Given the description of an element on the screen output the (x, y) to click on. 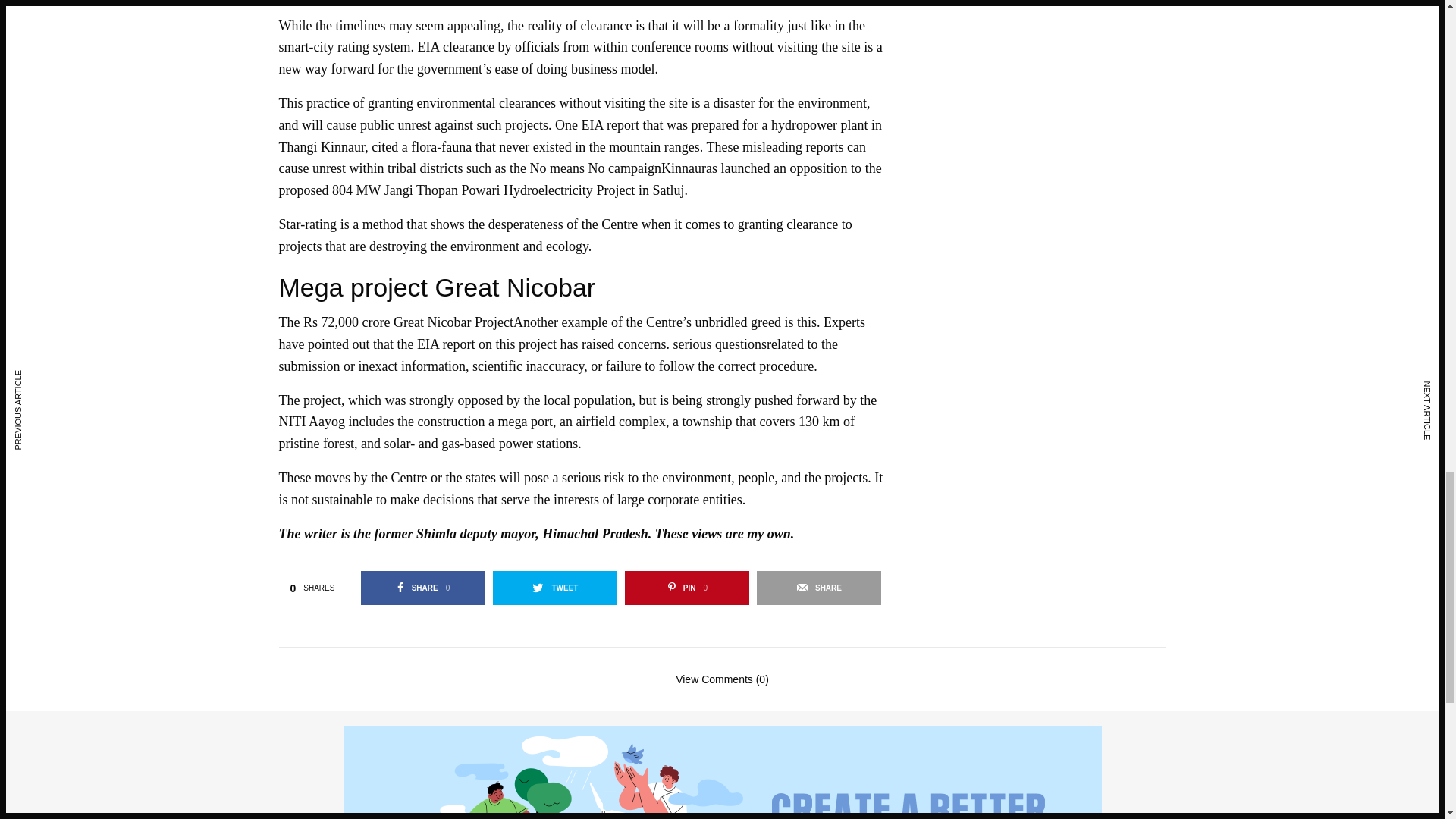
TWEET (555, 587)
Great Nicobar Project (422, 587)
serious questions (453, 322)
